Given the description of an element on the screen output the (x, y) to click on. 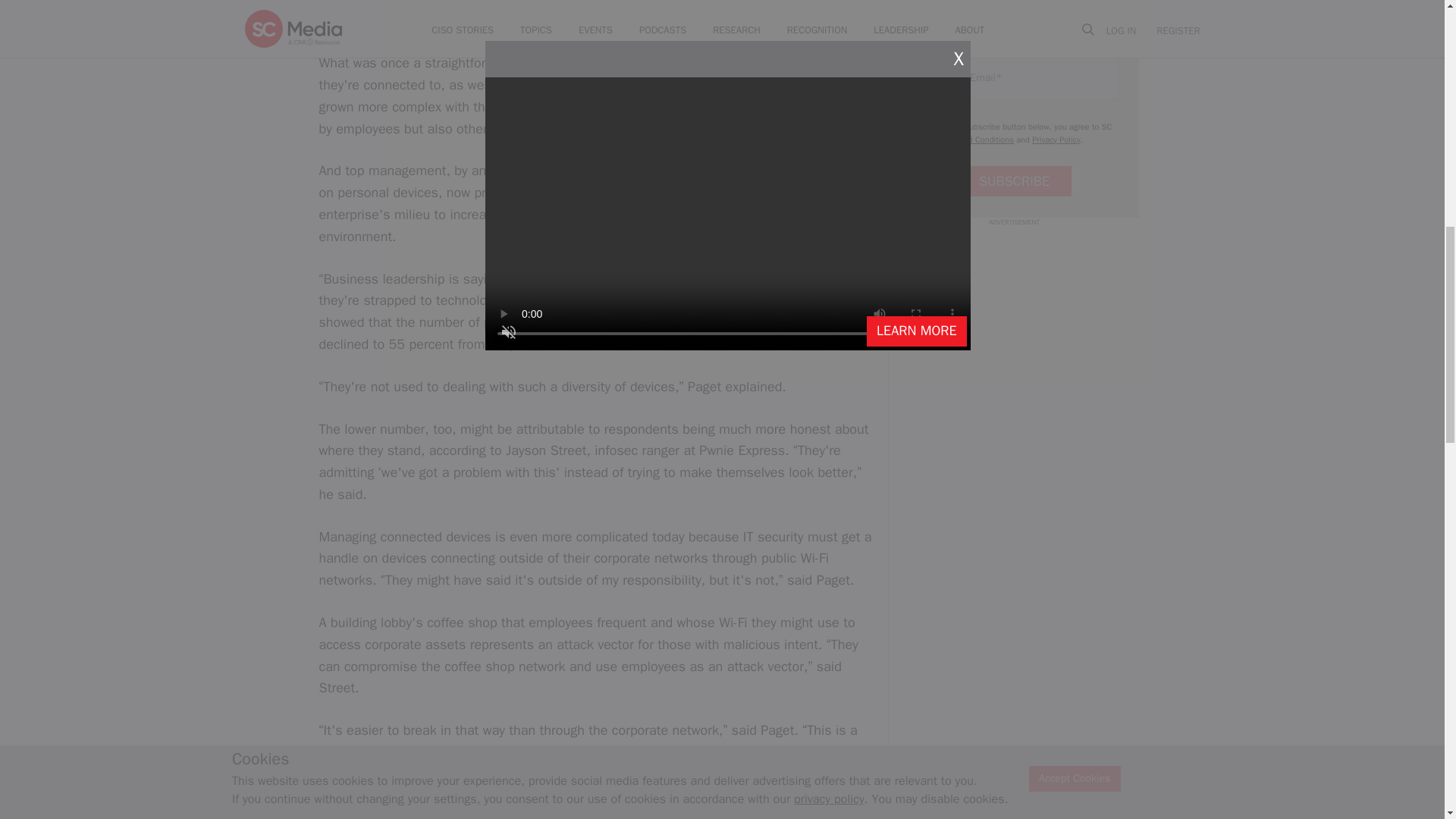
Privacy Policy (1056, 139)
Terms and Conditions (973, 139)
3rd party ad content (1012, 322)
